Given the description of an element on the screen output the (x, y) to click on. 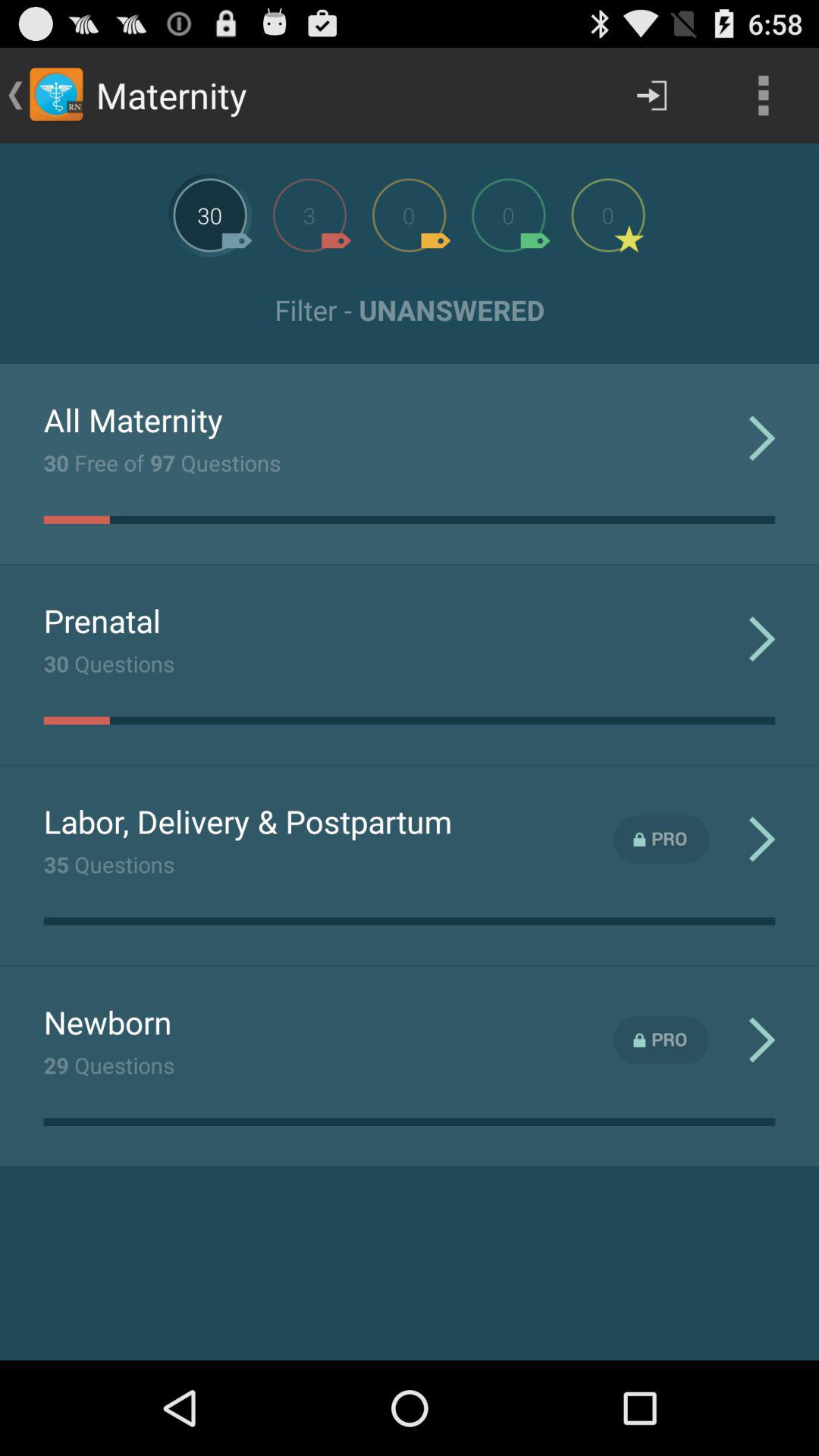
click on the first arrow (761, 437)
click on the second arrow (761, 638)
click on the icon beside maternity (55, 95)
click on the next arrow (651, 95)
click on the second icon from the left (309, 215)
